Given the description of an element on the screen output the (x, y) to click on. 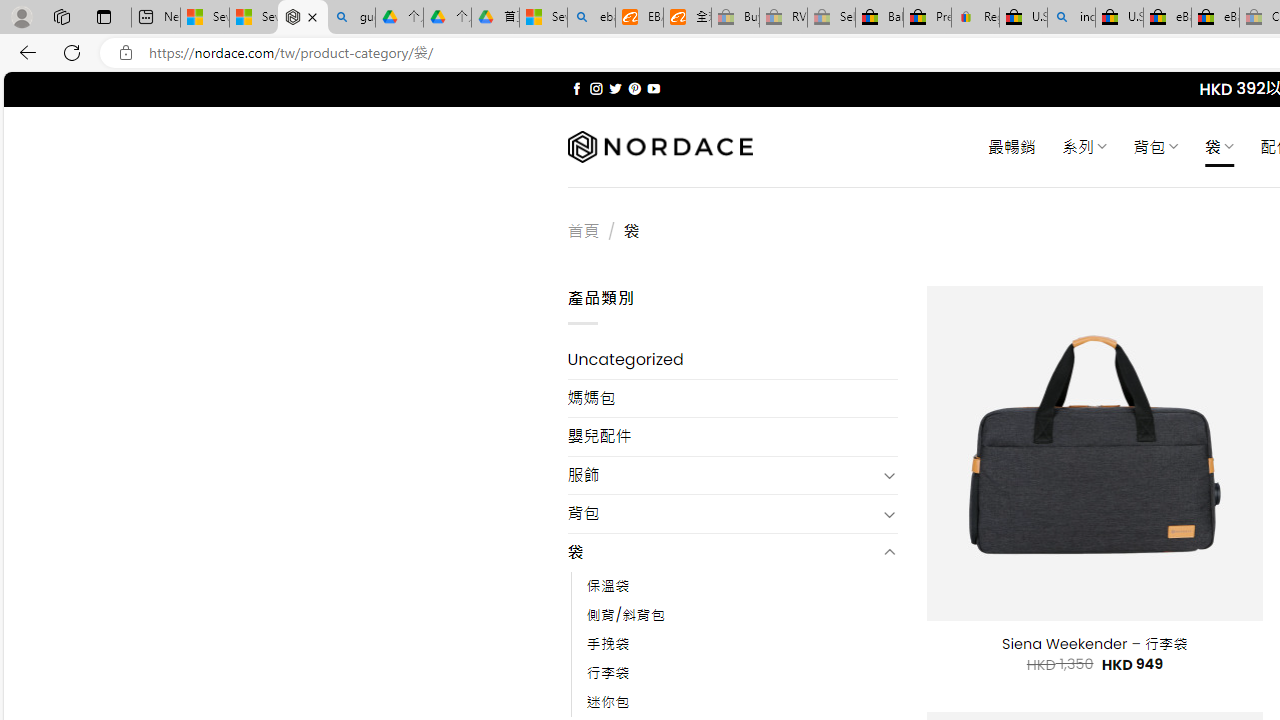
Uncategorized (732, 359)
Follow on Instagram (596, 88)
Sell worldwide with eBay - Sleeping (831, 17)
Buy Auto Parts & Accessories | eBay - Sleeping (735, 17)
